Given the description of an element on the screen output the (x, y) to click on. 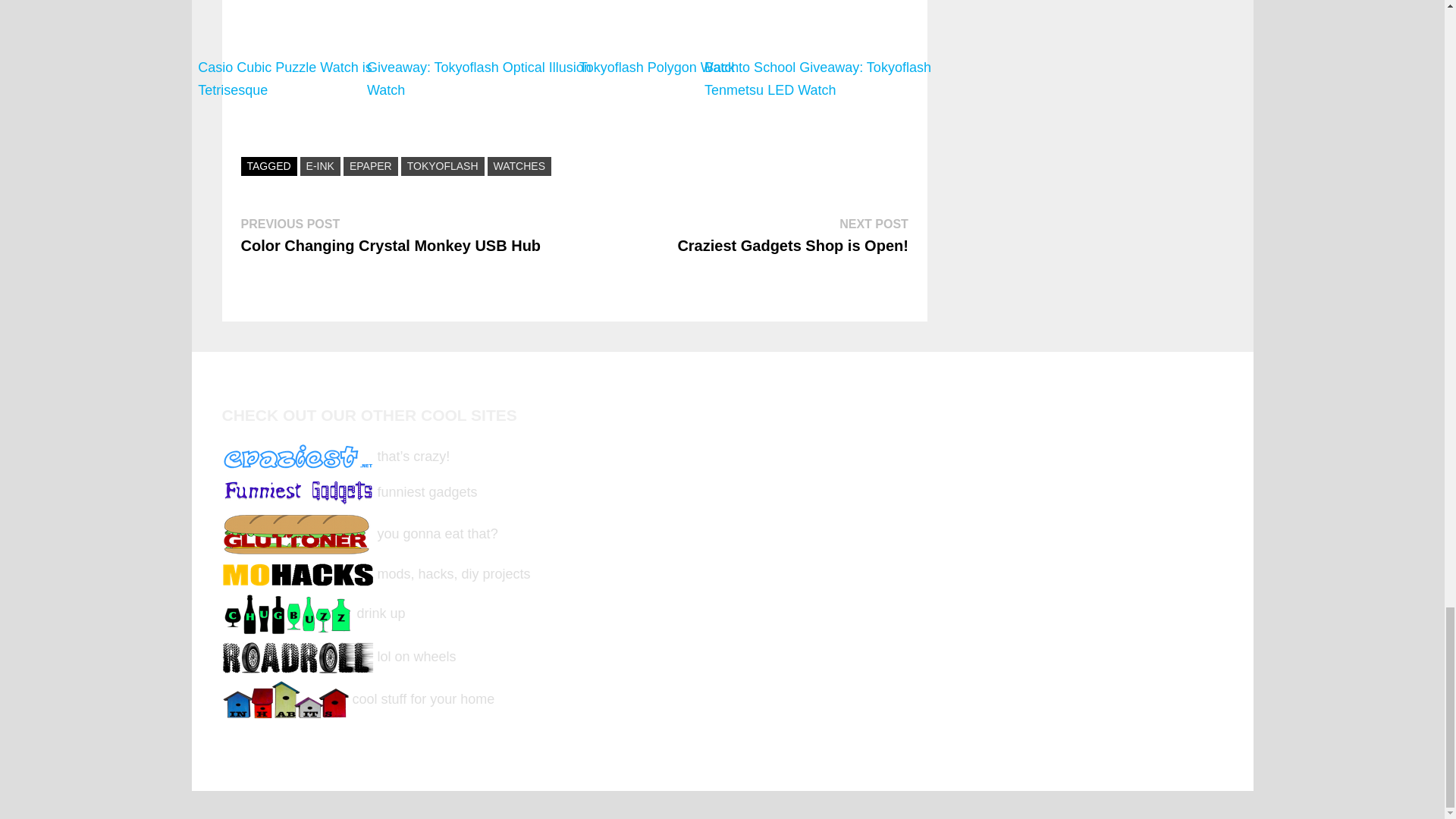
EPAPER (370, 166)
WATCHES (519, 166)
TOKYOFLASH (442, 166)
Casio Cubic Puzzle Watch is Tetrisesque (320, 52)
Back to School Giveaway: Tokyoflash Tenmetsu LED Watch (827, 52)
E-INK (319, 166)
Giveaway: Tokyoflash Optical Illusion Watch (490, 52)
Tokyoflash Polygon Watch (658, 52)
